Given the description of an element on the screen output the (x, y) to click on. 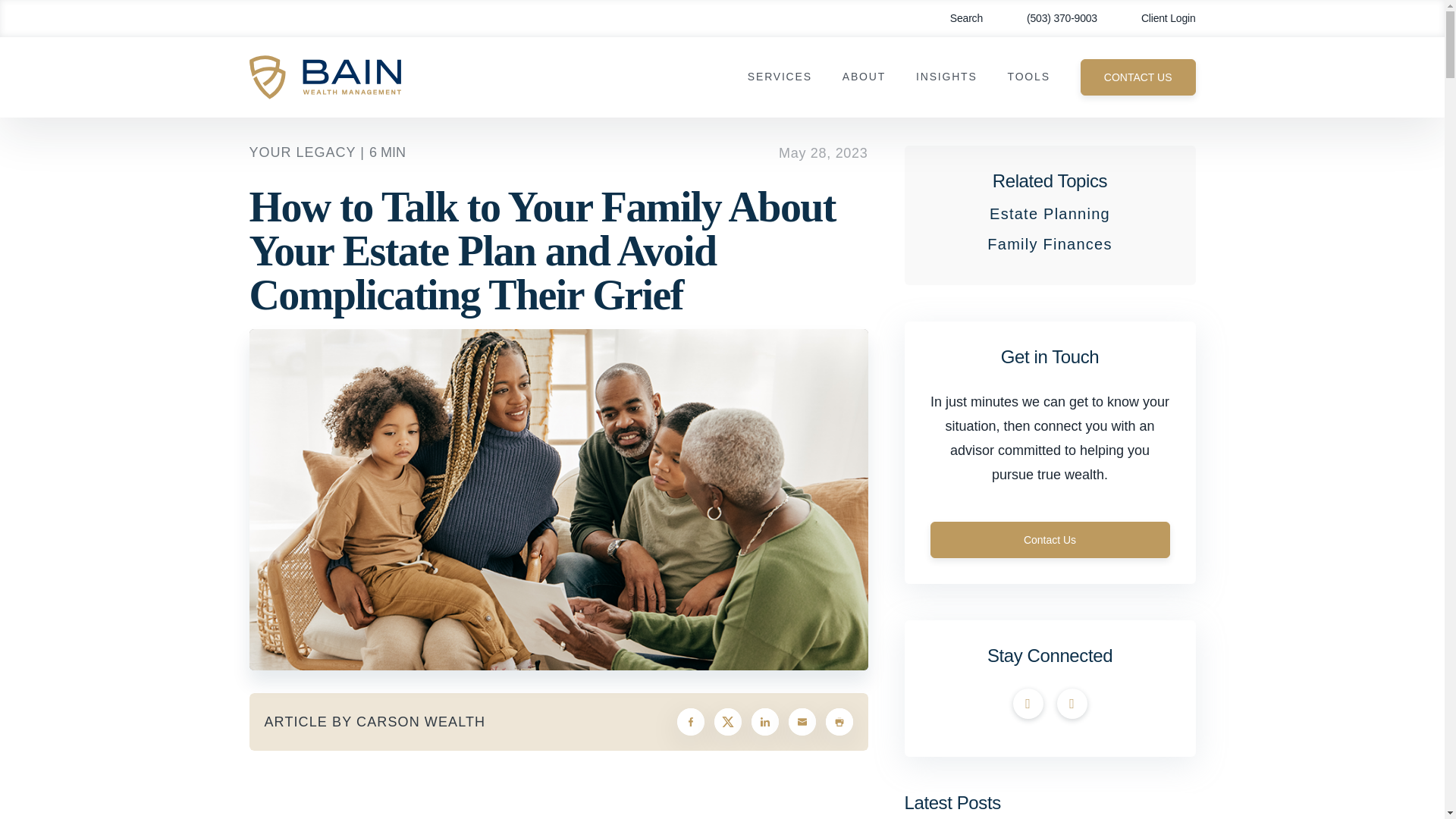
CONTACT US (1137, 76)
INSIGHTS (945, 77)
TOOLS (1028, 77)
Client Login (1157, 18)
ABOUT (864, 77)
SERVICES (780, 77)
Search (955, 18)
